Given the description of an element on the screen output the (x, y) to click on. 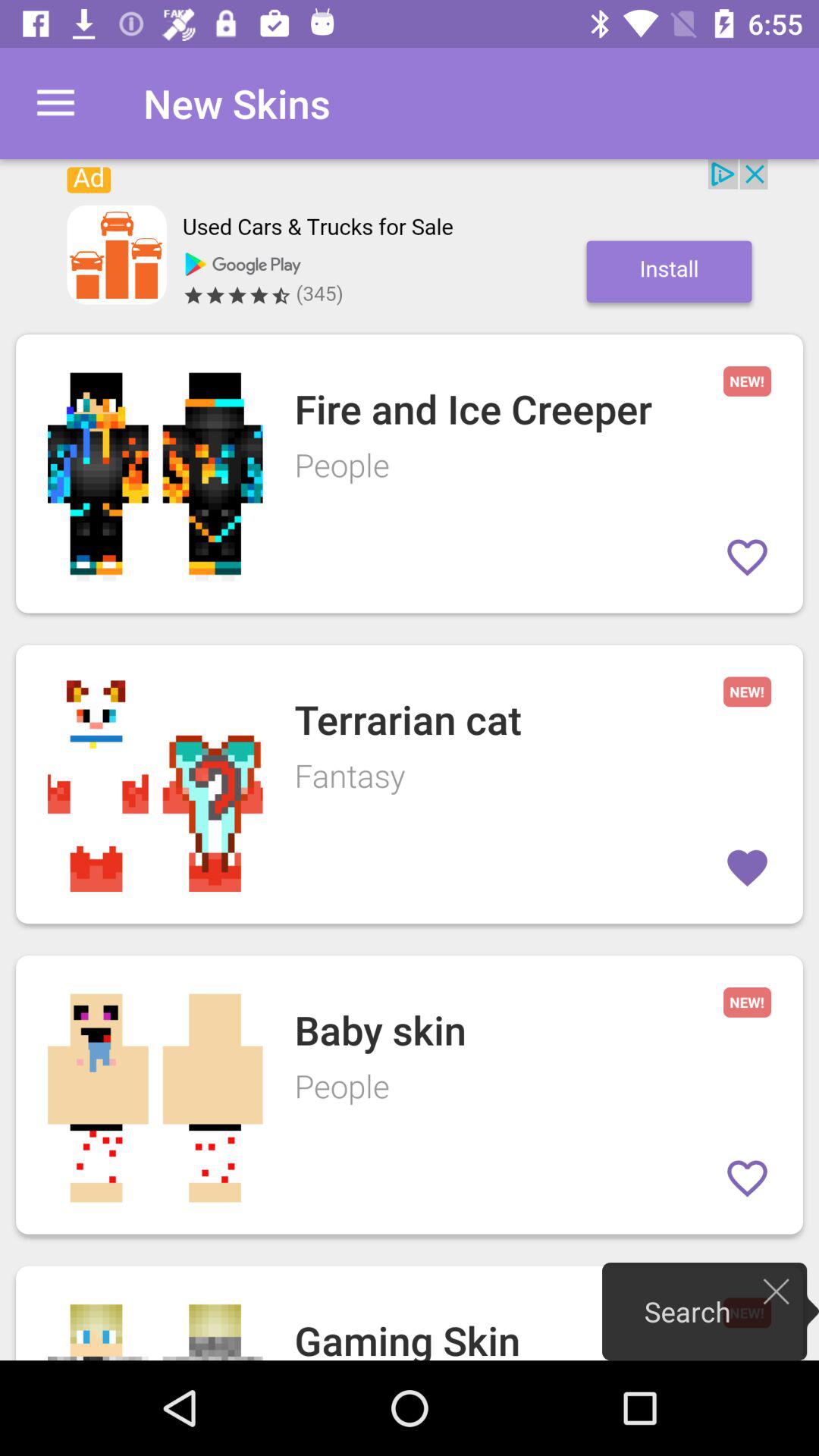
adv link (409, 238)
